Given the description of an element on the screen output the (x, y) to click on. 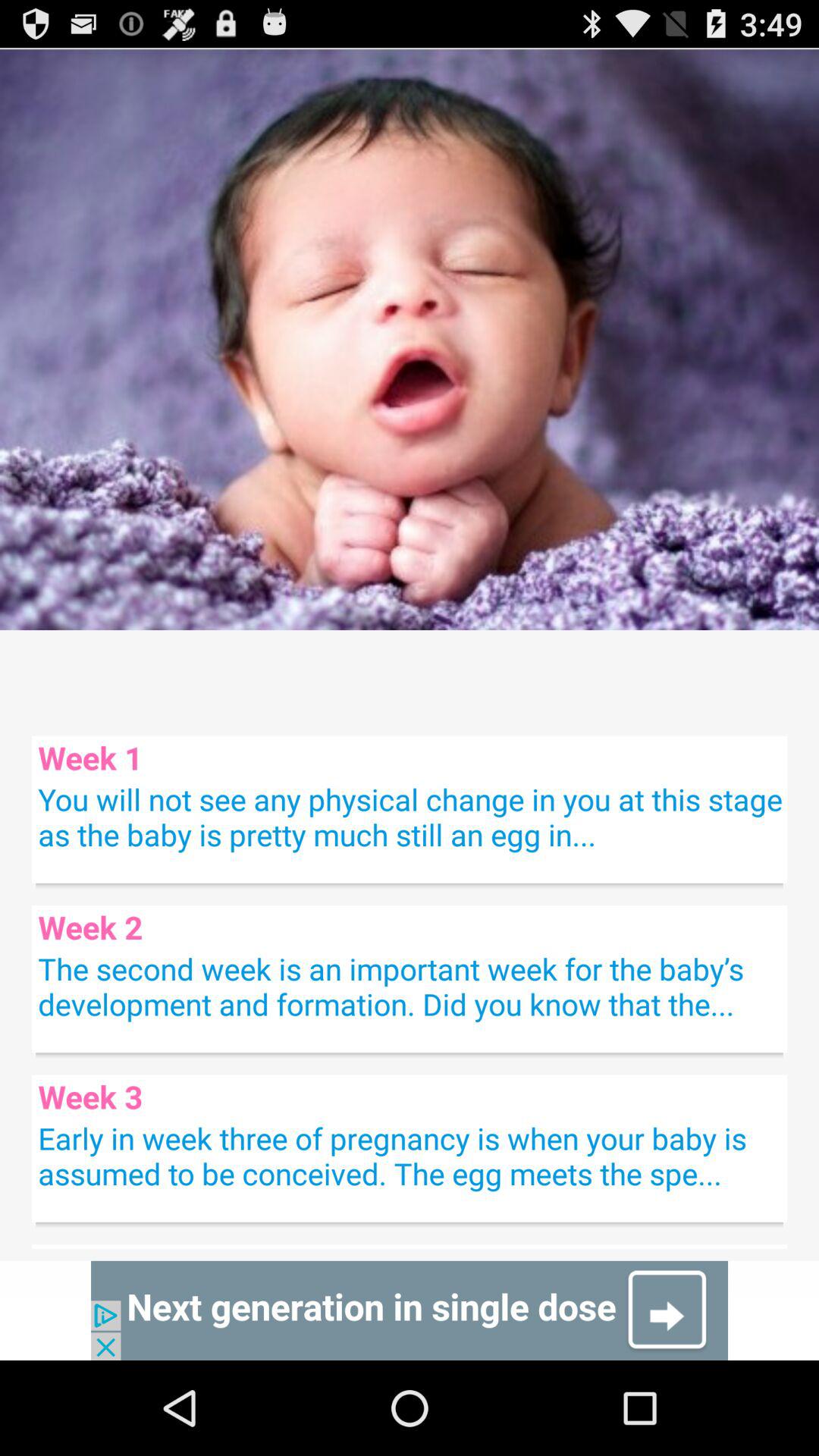
click on the text in the third text field (409, 1155)
